Given the description of an element on the screen output the (x, y) to click on. 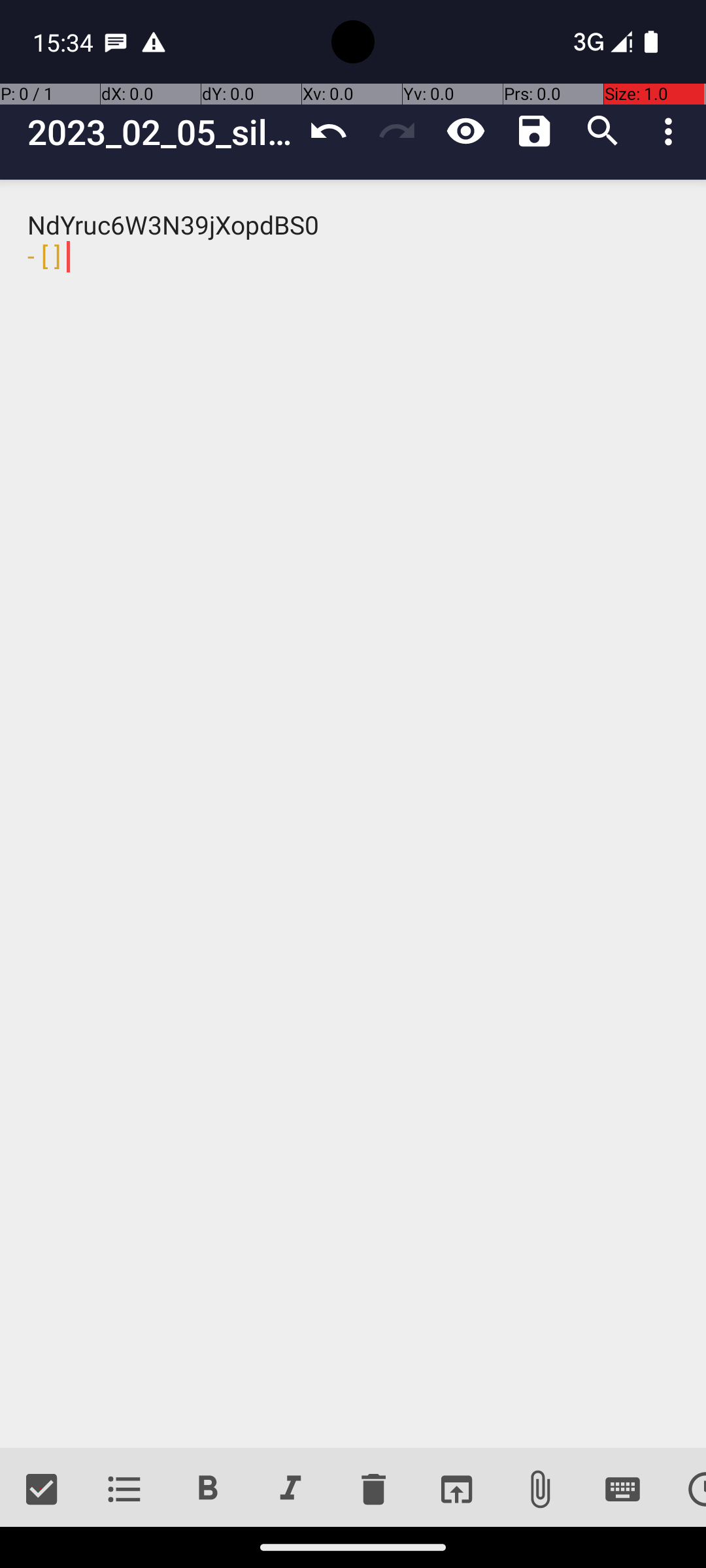
2023_02_05_silly_sun Element type: android.widget.TextView (160, 131)
NdYruc6W3N39jXopdBS0
- [ ]  Element type: android.widget.EditText (353, 813)
